Given the description of an element on the screen output the (x, y) to click on. 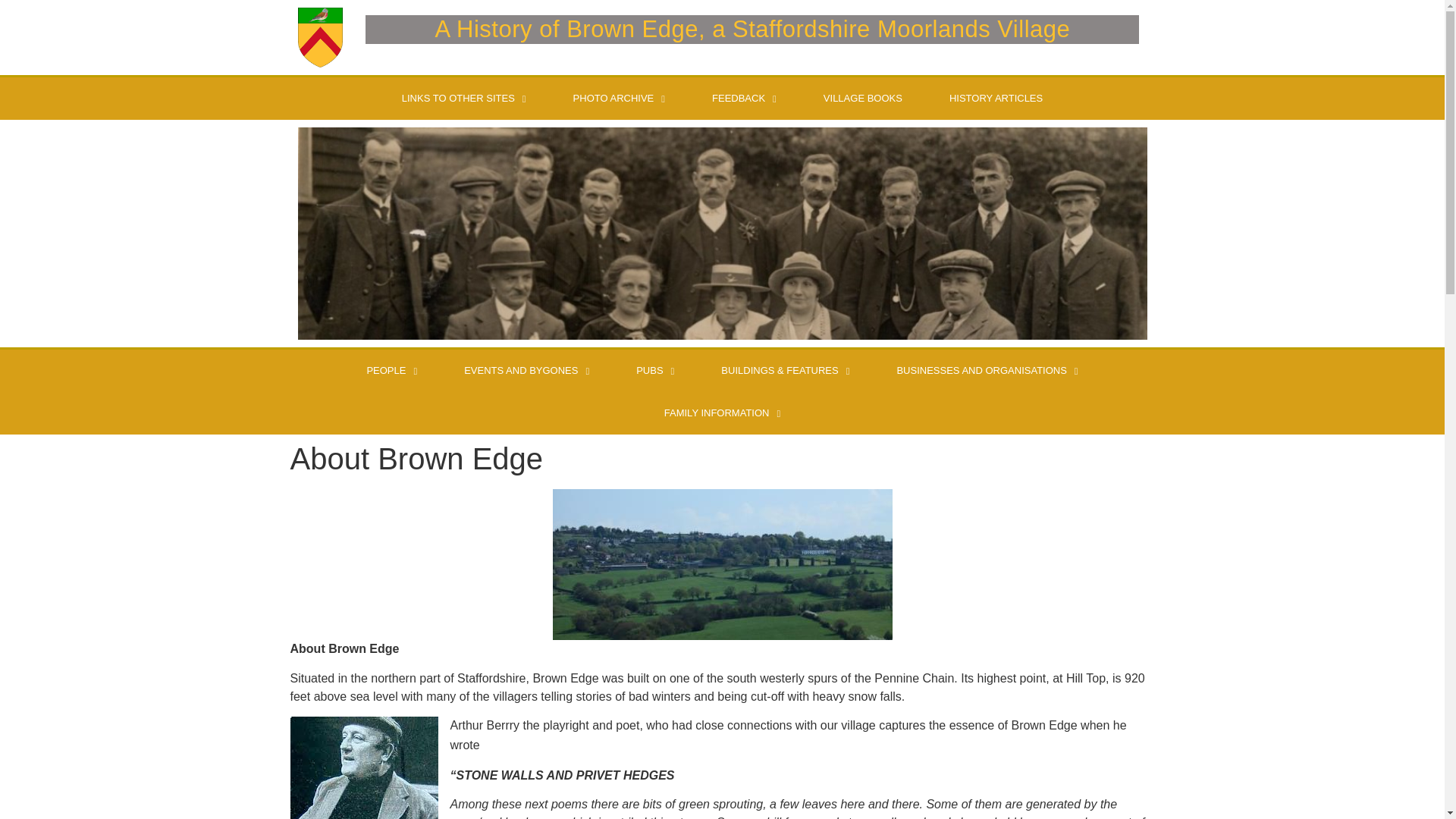
HISTORY ARTICLES (995, 97)
PHOTO ARCHIVE (619, 97)
VILLAGE BOOKS (862, 97)
LINKS TO OTHER SITES (464, 97)
FEEDBACK (743, 97)
